Given the description of an element on the screen output the (x, y) to click on. 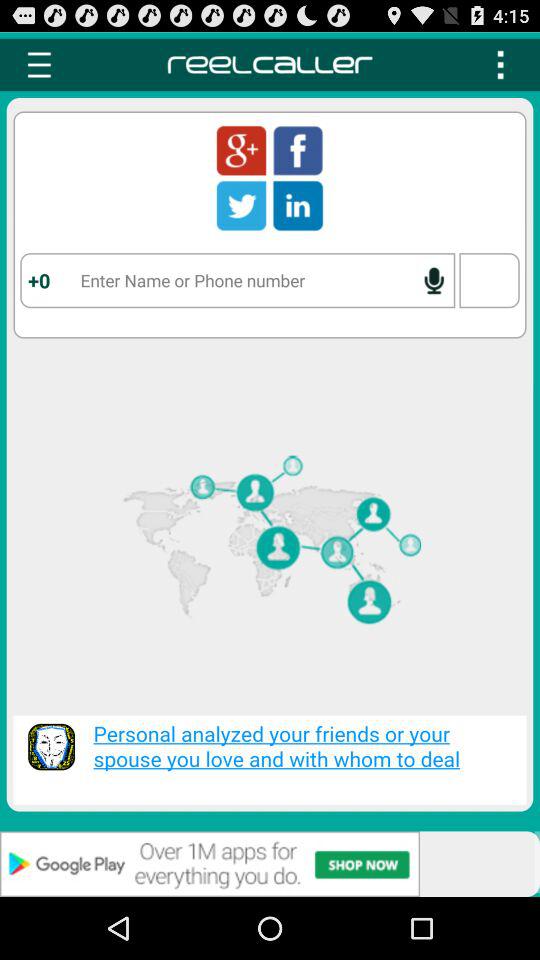
menu button (39, 64)
